Given the description of an element on the screen output the (x, y) to click on. 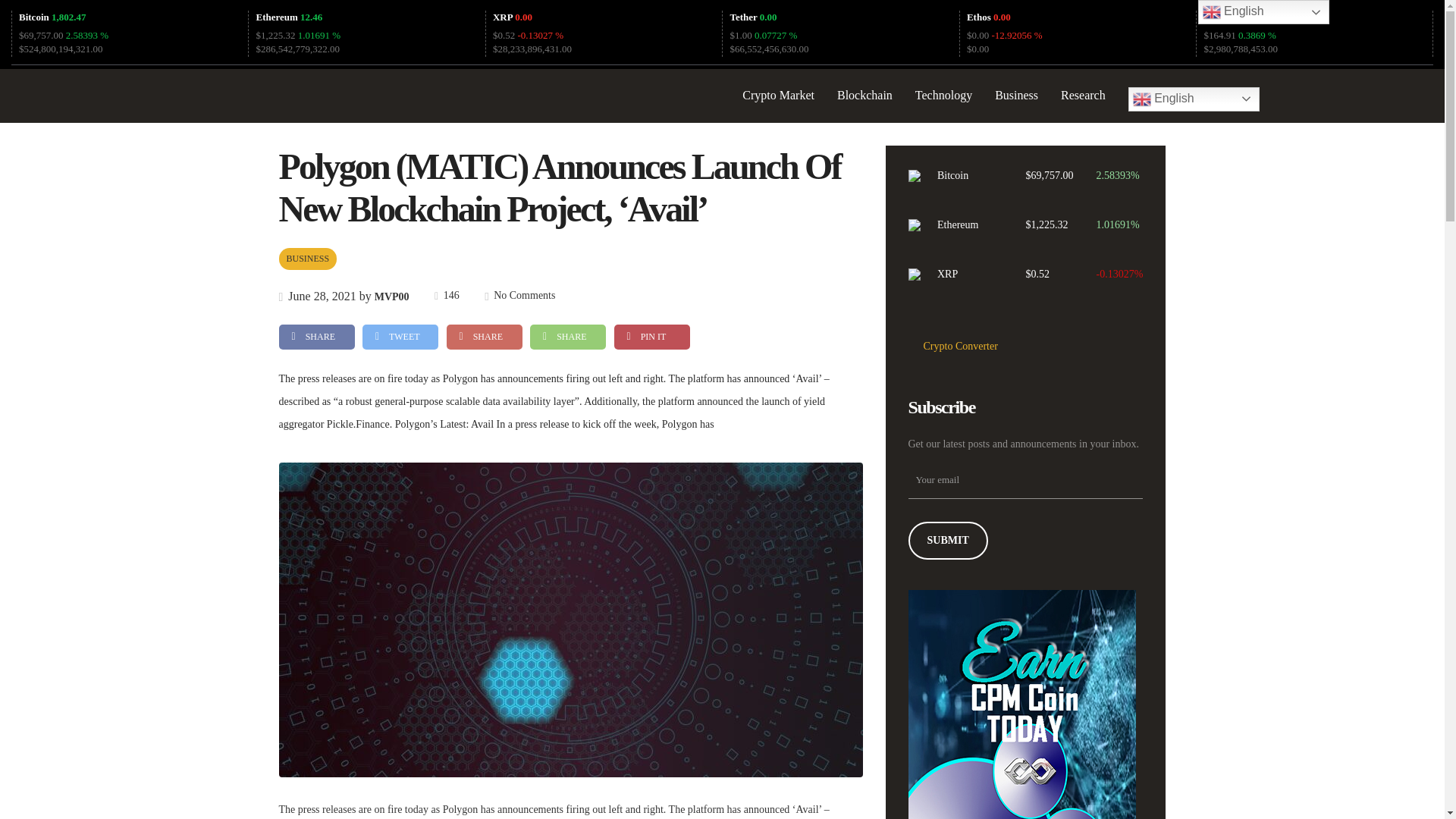
No Comments (519, 295)
Business (1016, 95)
SHARE (317, 336)
Crypto Market (777, 95)
Research (1083, 95)
Blockchain (864, 95)
English (1193, 98)
PIN IT (652, 336)
Technology (943, 95)
Submit (948, 540)
TWEET (400, 336)
SHARE (567, 336)
BUSINESS (308, 259)
SHARE (483, 336)
